Given the description of an element on the screen output the (x, y) to click on. 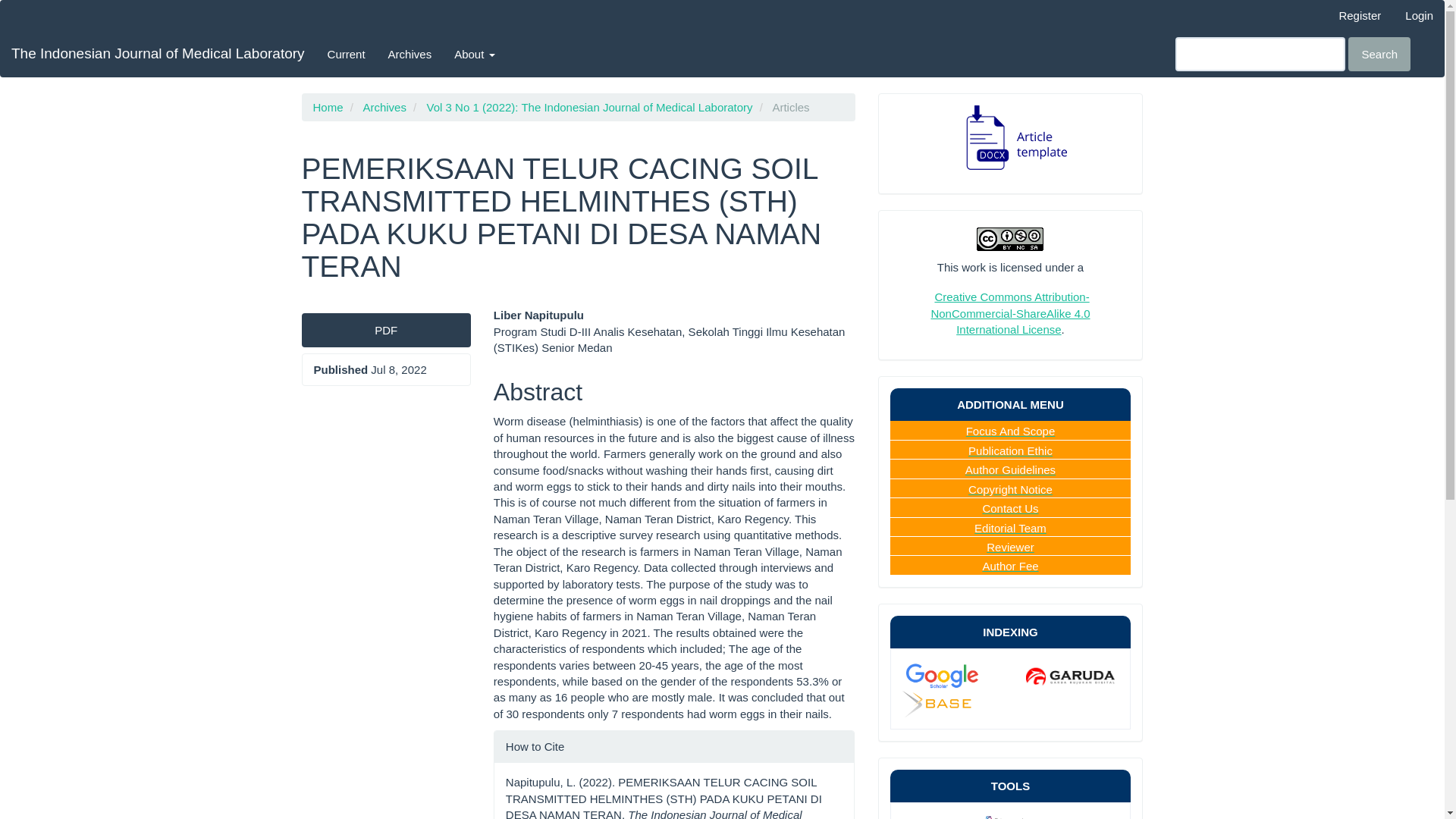
Archives (384, 106)
Publication Ethic (1010, 450)
Home (327, 106)
Editorial Team (1010, 527)
Contact Us (1009, 508)
Archives (410, 53)
The Indonesian Journal of Medical Laboratory (157, 53)
Search (1379, 53)
About (473, 53)
Register (1358, 15)
Author Guidelines (1010, 469)
Copyright Notice (1010, 489)
PDF (385, 329)
Current (346, 53)
